Given the description of an element on the screen output the (x, y) to click on. 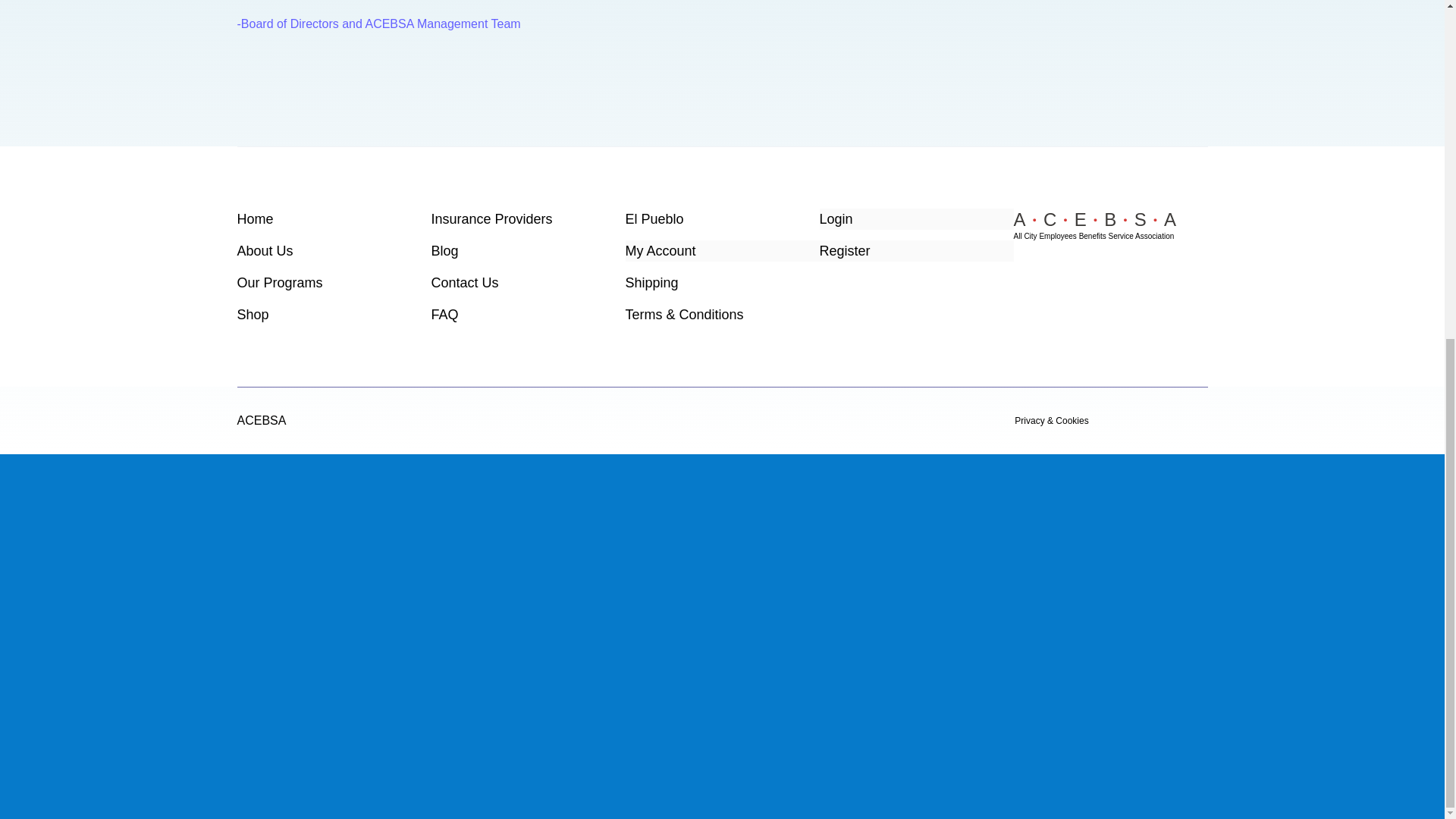
Blog (527, 250)
ACEBSA (260, 420)
Contact Us (527, 282)
Login (915, 219)
Our Programs (332, 282)
FAQ (527, 314)
Register (915, 250)
Insurance Providers (527, 219)
Shipping (721, 282)
My Account (721, 250)
